Given the description of an element on the screen output the (x, y) to click on. 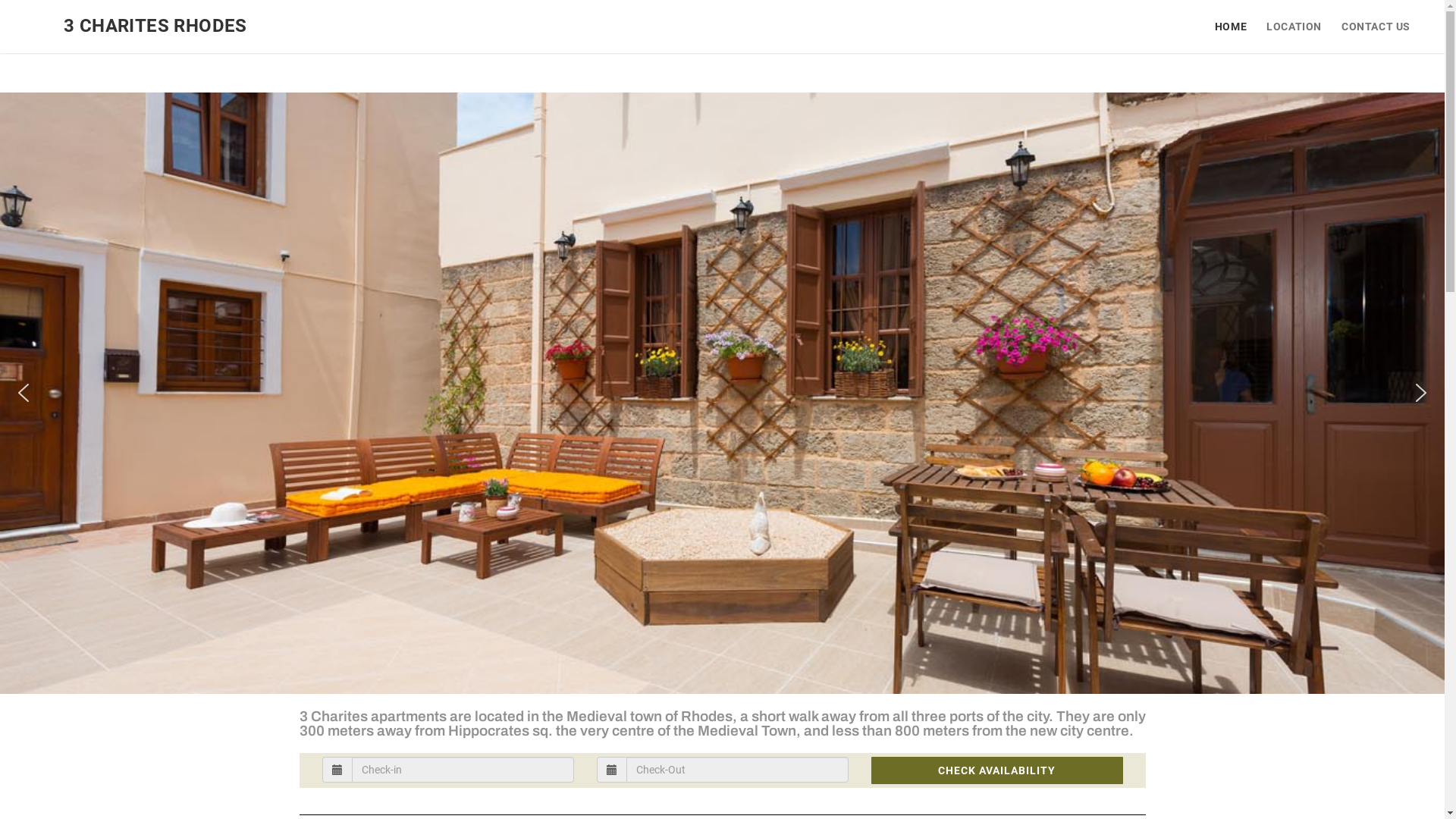
3 CHARITES RHODES Element type: text (155, 26)
CONTACT US Element type: text (1375, 26)
HOME Element type: text (1230, 26)
CHECK AVAILABILITY Element type: text (996, 770)
LOCATION Element type: text (1293, 26)
